Given the description of an element on the screen output the (x, y) to click on. 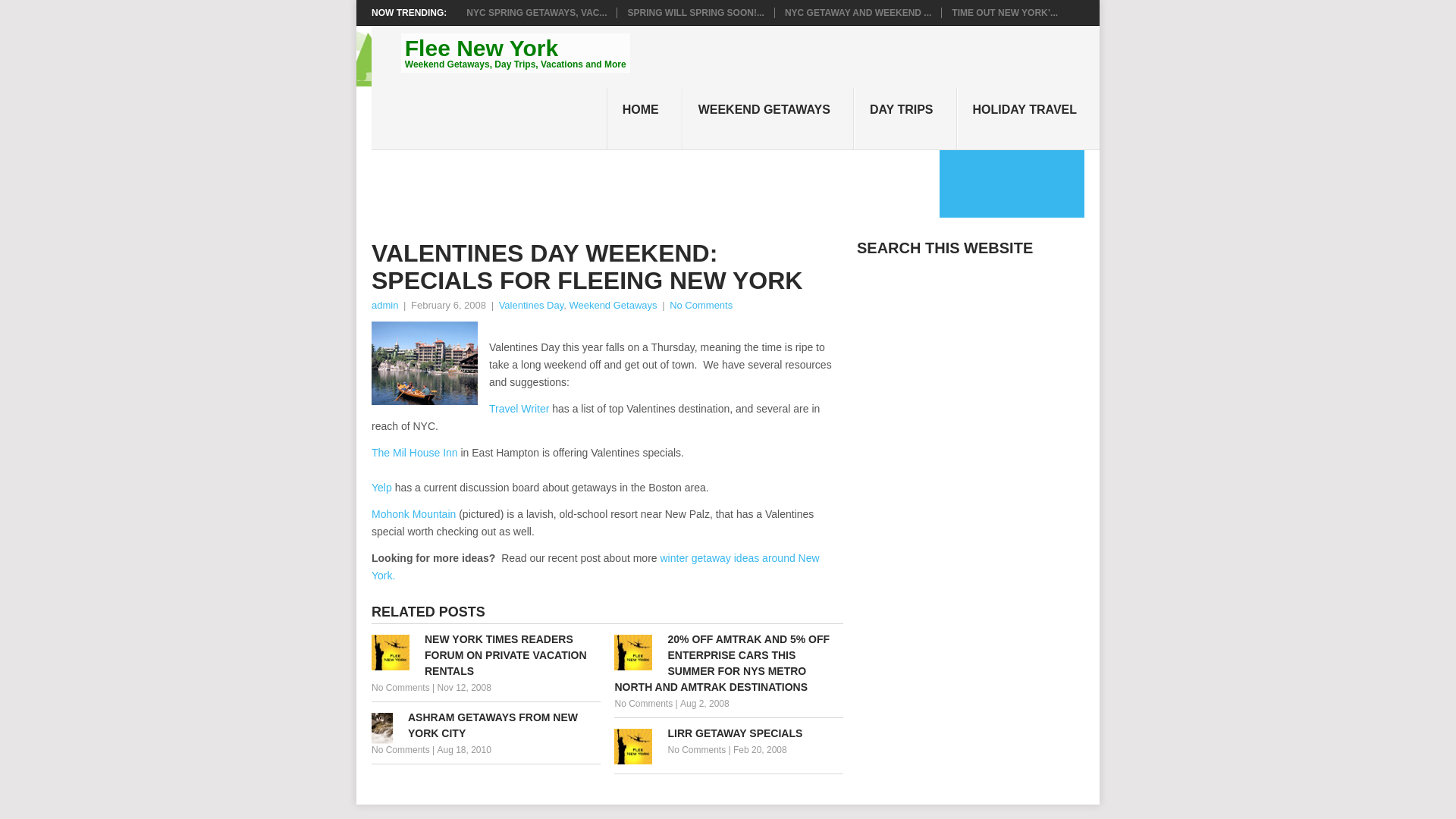
SPRING WILL SPRING SOON!... (694, 12)
Ashram Getaways From New York City (485, 726)
Travel Writer (518, 408)
No Comments (400, 749)
LIRR GETAWAY SPECIALS (728, 733)
New York Times Readers Forum on Private Vacation Rentals (485, 655)
Posts by admin (384, 305)
LIRR Getaway Specials (728, 733)
NYC Getaway and Weekend Trip List (857, 12)
HOLIDAY TRAVEL (1028, 118)
